Given the description of an element on the screen output the (x, y) to click on. 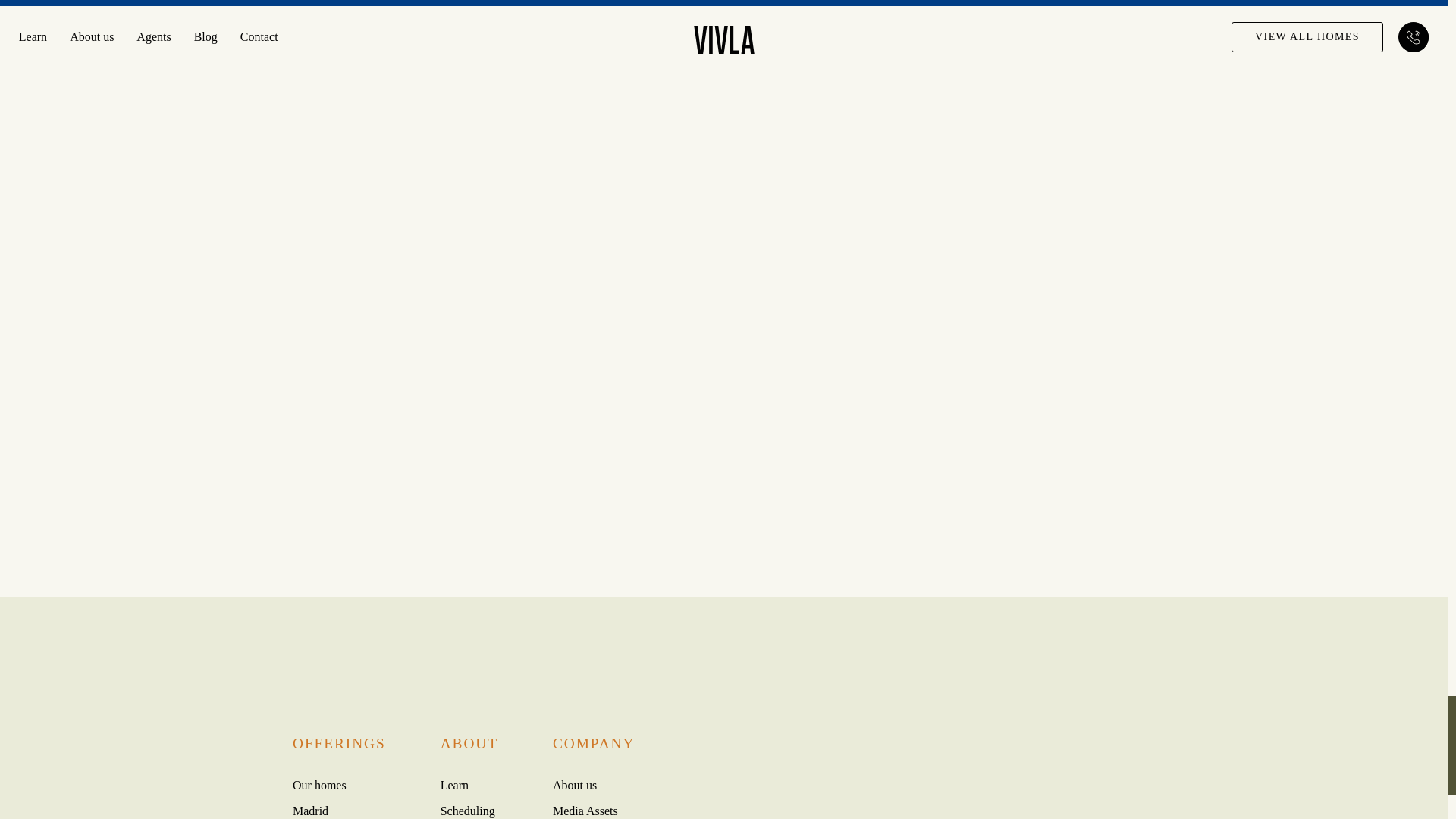
Submit (681, 548)
Our homes (319, 784)
Media Assets (585, 810)
About us (574, 784)
Scheduling (468, 810)
Learn (454, 784)
Madrid (310, 810)
